Given the description of an element on the screen output the (x, y) to click on. 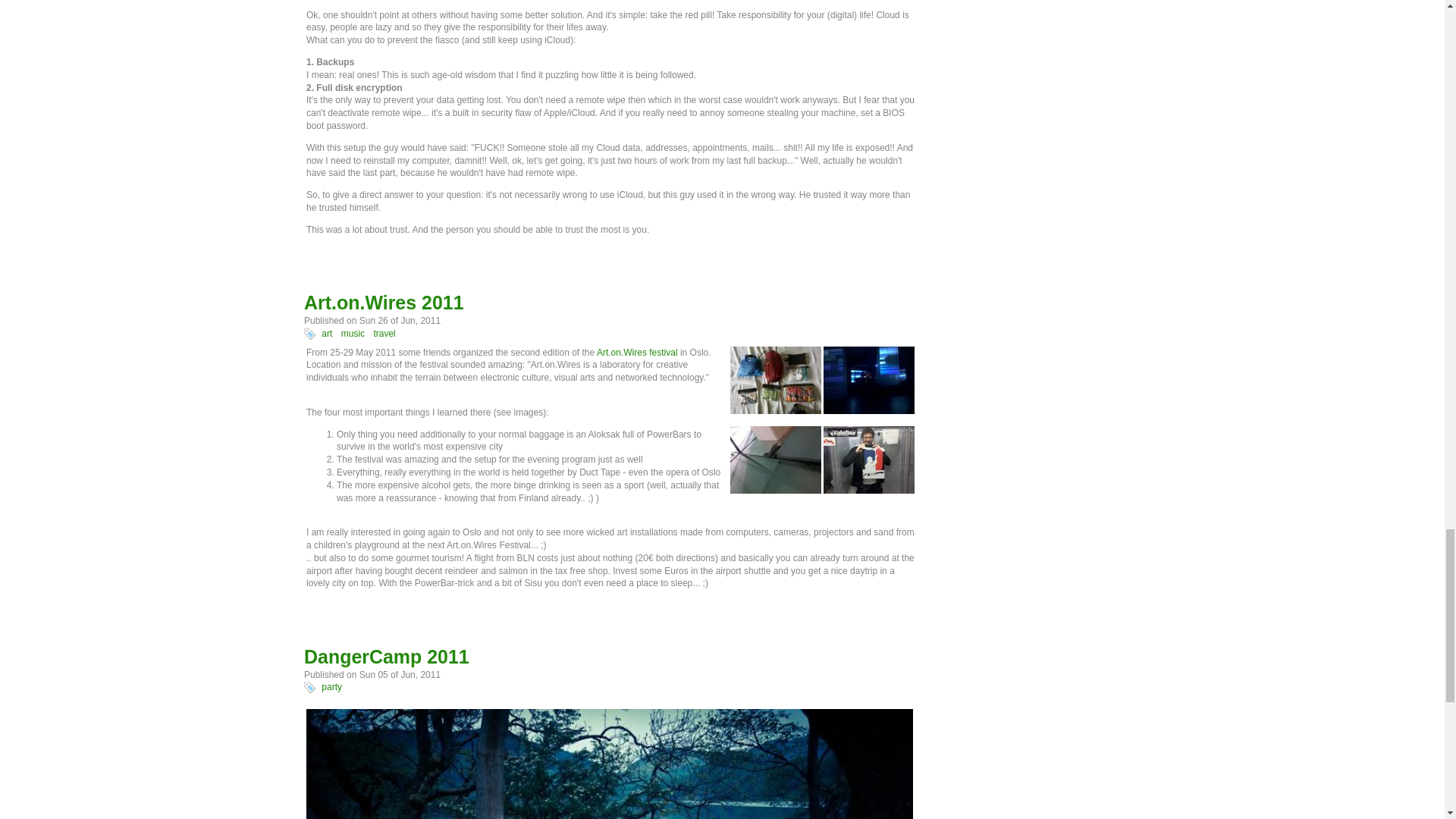
art (326, 333)
Art.on.Wires 2011 (384, 301)
travel (383, 333)
DangerCamp 2011 (386, 656)
party (331, 686)
Art.on.Wires festival (637, 352)
music (352, 333)
Tags (309, 334)
Tags (309, 687)
